Given the description of an element on the screen output the (x, y) to click on. 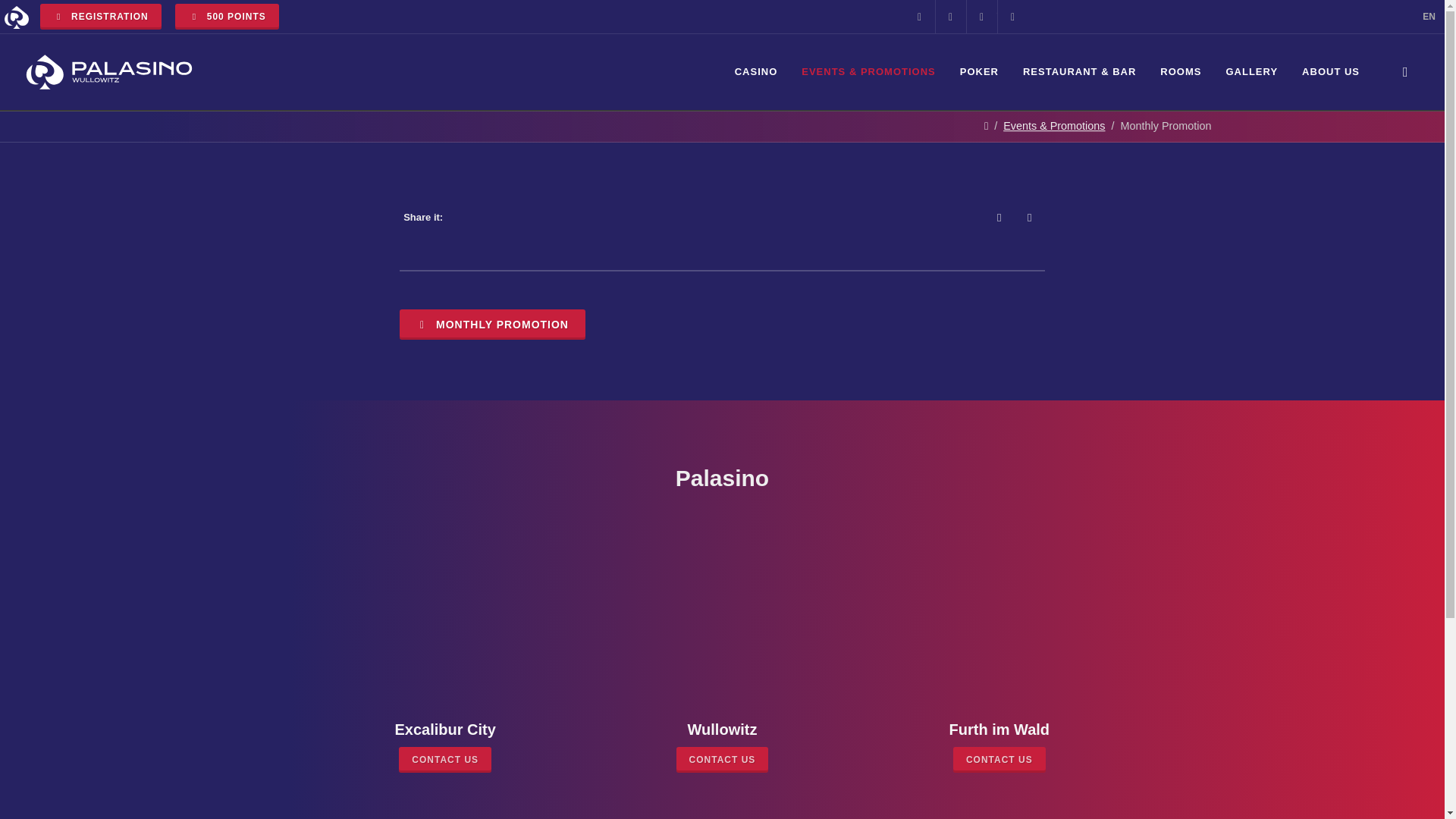
REGISTRATION (100, 16)
ABOUT US (1330, 71)
GALLERY (1251, 71)
500 POINTS (226, 16)
